Given the description of an element on the screen output the (x, y) to click on. 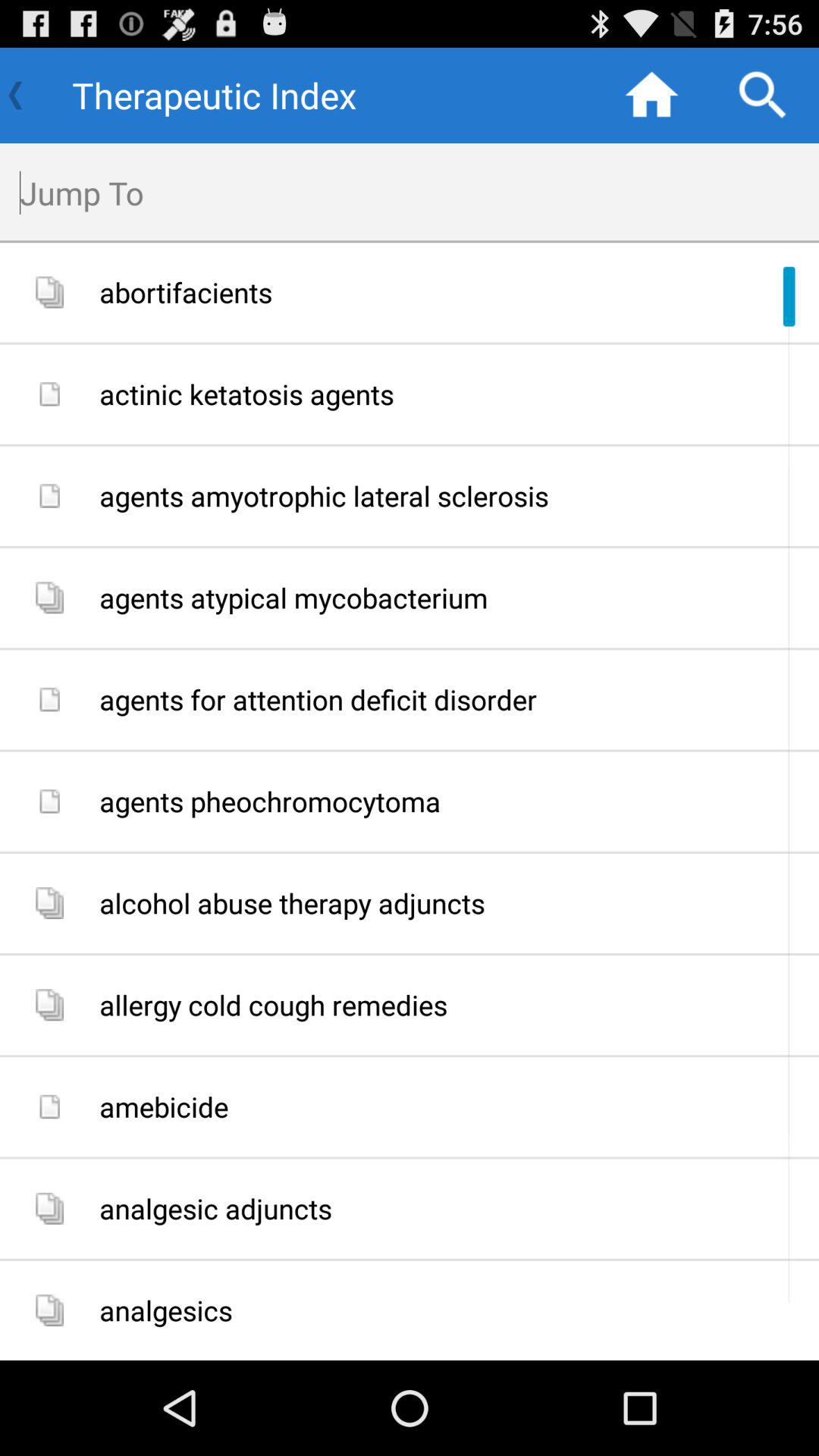
select the icon above allergy cold cough app (453, 903)
